Given the description of an element on the screen output the (x, y) to click on. 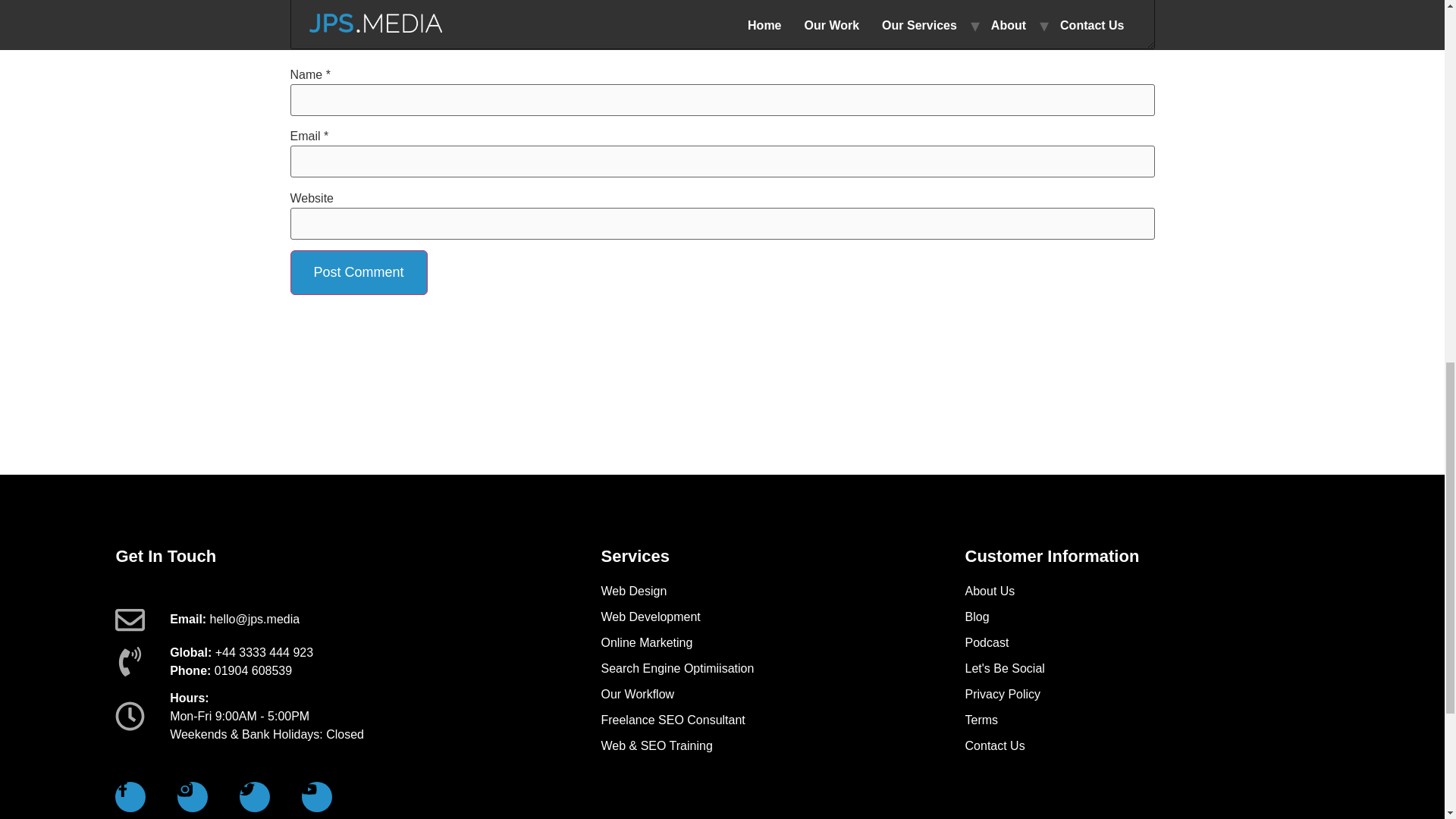
Search Engine Optimiisation (781, 669)
Web Design (781, 591)
Podcast (1147, 642)
Post Comment (357, 272)
Privacy Policy (1147, 694)
Contact Us (1147, 746)
Post Comment (357, 272)
Web Development (781, 617)
Terms (1147, 720)
Freelance SEO Consultant (781, 720)
Our Workflow (781, 694)
Let's Be Social (1147, 669)
Online Marketing (781, 642)
Blog (1147, 617)
About Us (1147, 591)
